Given the description of an element on the screen output the (x, y) to click on. 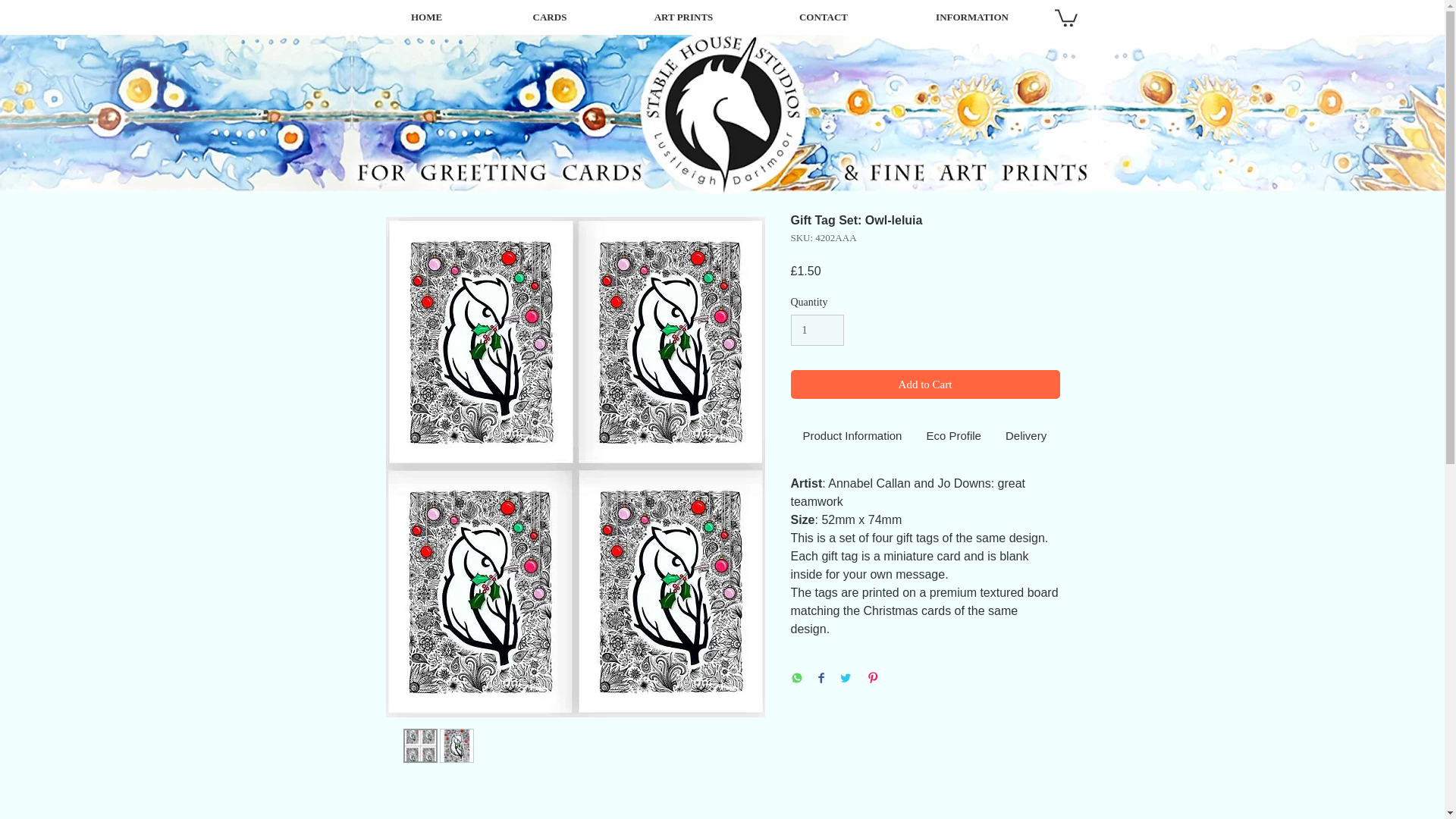
HOME (425, 17)
ART PRINTS (683, 17)
1 (817, 329)
INFORMATION (971, 17)
Use right and left arrows to navigate between tabs (852, 436)
CARDS (548, 17)
Add to Cart (924, 384)
CONTACT (823, 17)
Use right and left arrows to navigate between tabs (953, 436)
Use right and left arrows to navigate between tabs (1025, 436)
